Given the description of an element on the screen output the (x, y) to click on. 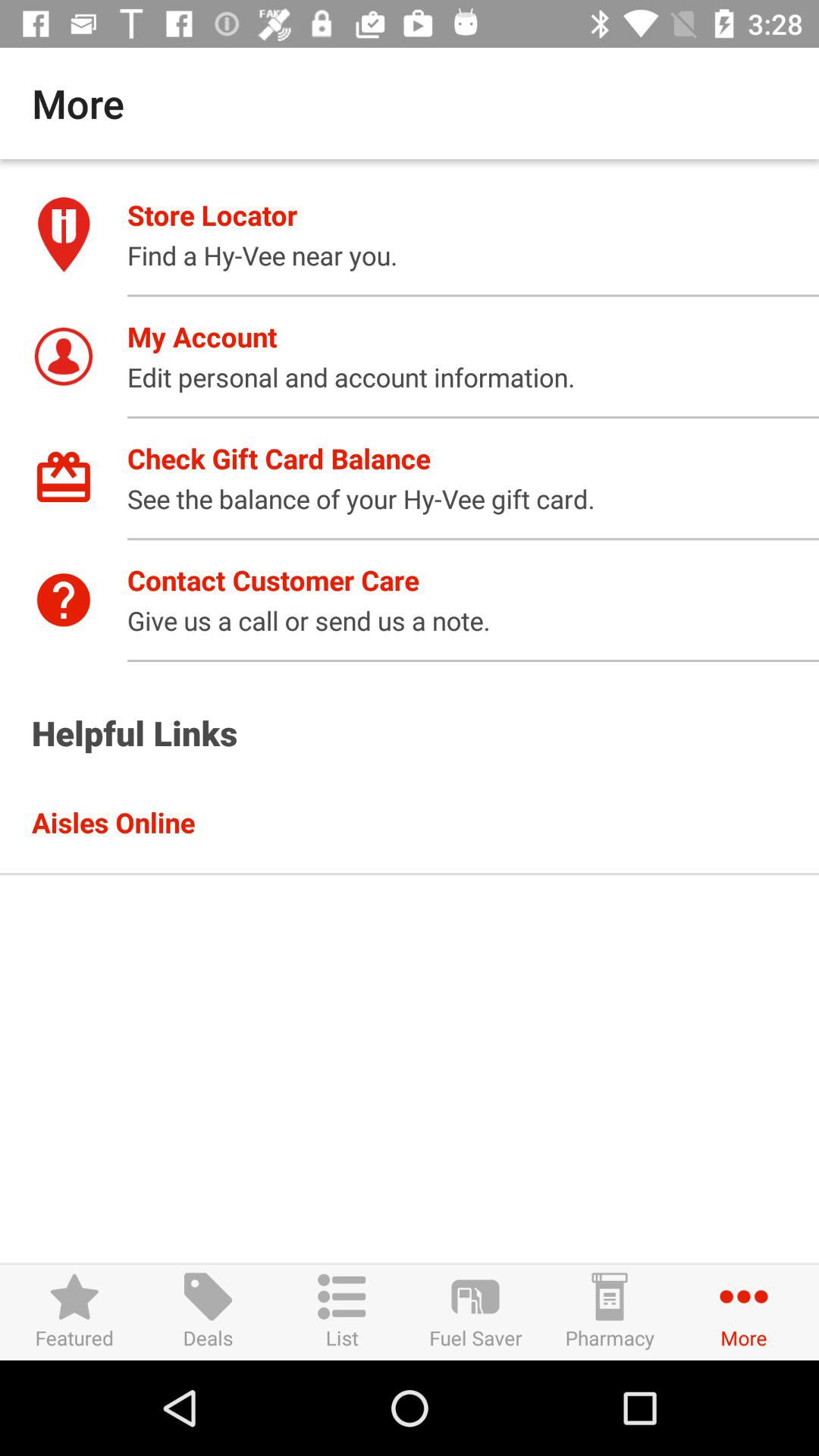
click icon to the right of the featured (208, 1311)
